Given the description of an element on the screen output the (x, y) to click on. 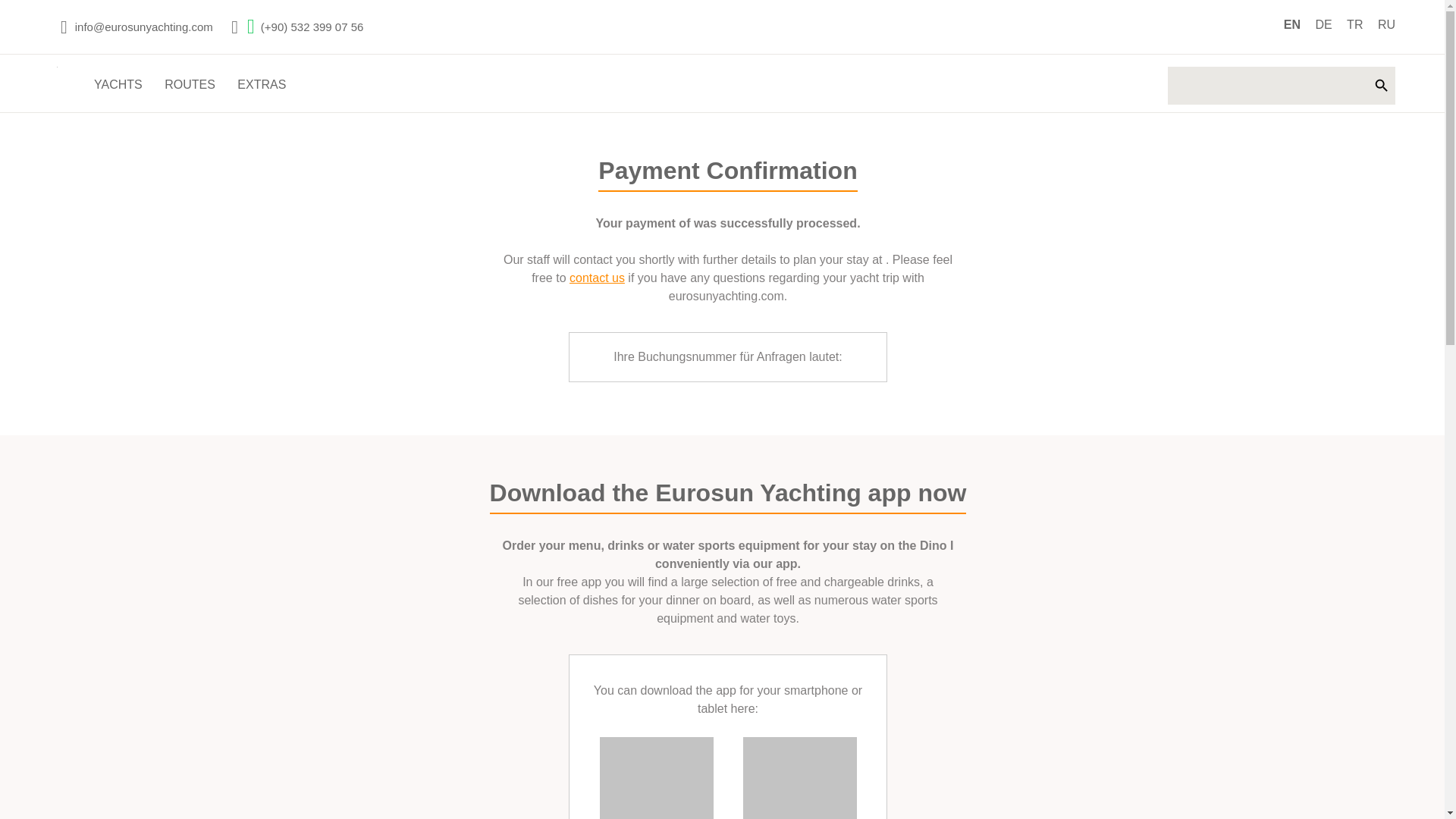
TR (1354, 24)
EN (1292, 24)
ROUTES (189, 90)
DE (1323, 24)
contact us (596, 277)
YACHTS (118, 90)
EXTRAS (261, 90)
RU (1385, 24)
